Given the description of an element on the screen output the (x, y) to click on. 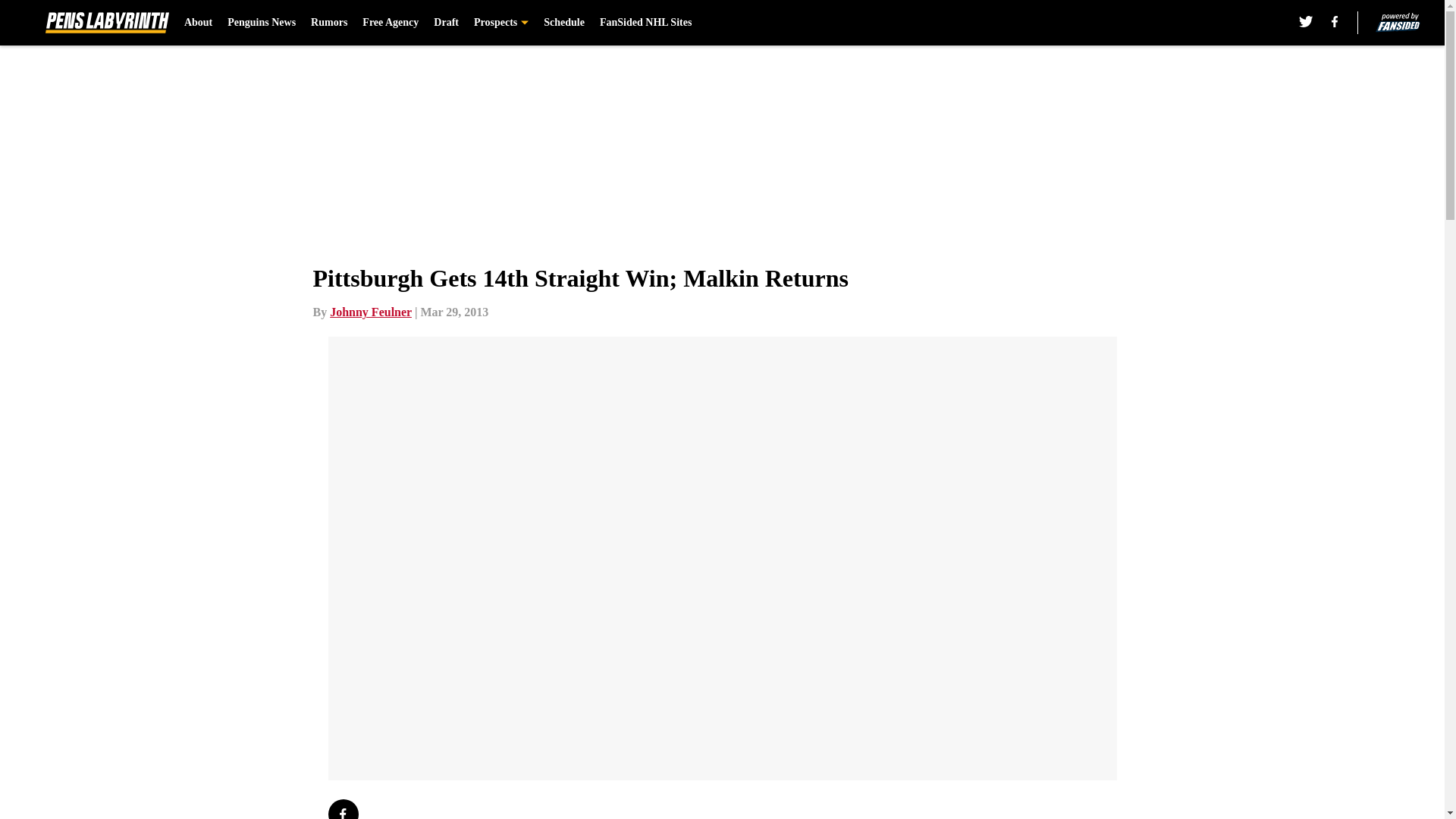
About (198, 22)
Free Agency (390, 22)
Rumors (329, 22)
Johnny Feulner (371, 311)
FanSided NHL Sites (645, 22)
Schedule (564, 22)
Penguins News (261, 22)
Draft (445, 22)
